Given the description of an element on the screen output the (x, y) to click on. 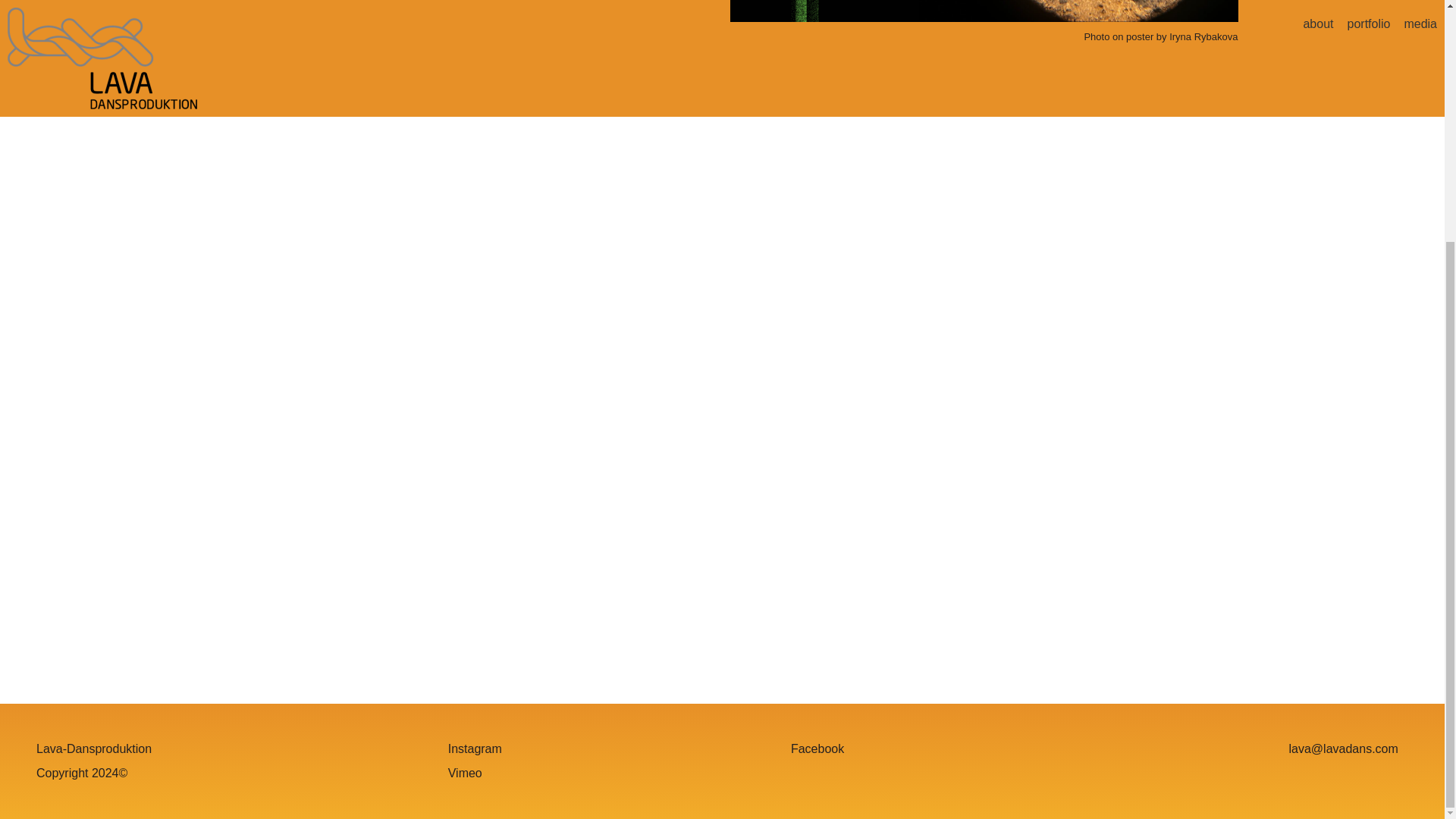
Vimeo (464, 773)
Facebook (817, 749)
Lava-Dansproduktion (93, 749)
Instagram (475, 749)
